Given the description of an element on the screen output the (x, y) to click on. 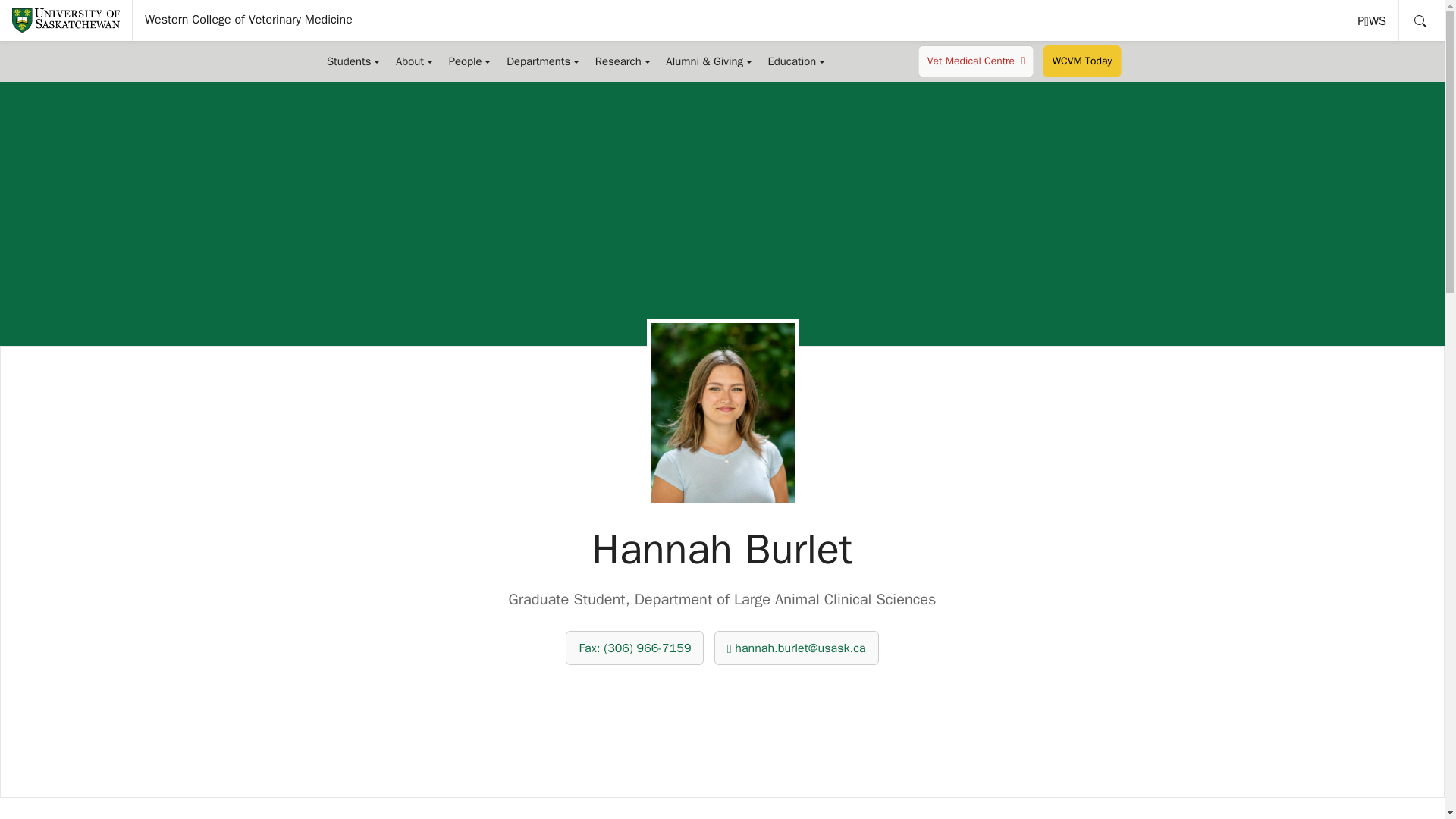
Departments (543, 60)
About (414, 60)
Students (352, 60)
PAWS (1372, 20)
Western College of Veterinary Medicine (1372, 20)
People (248, 20)
